Given the description of an element on the screen output the (x, y) to click on. 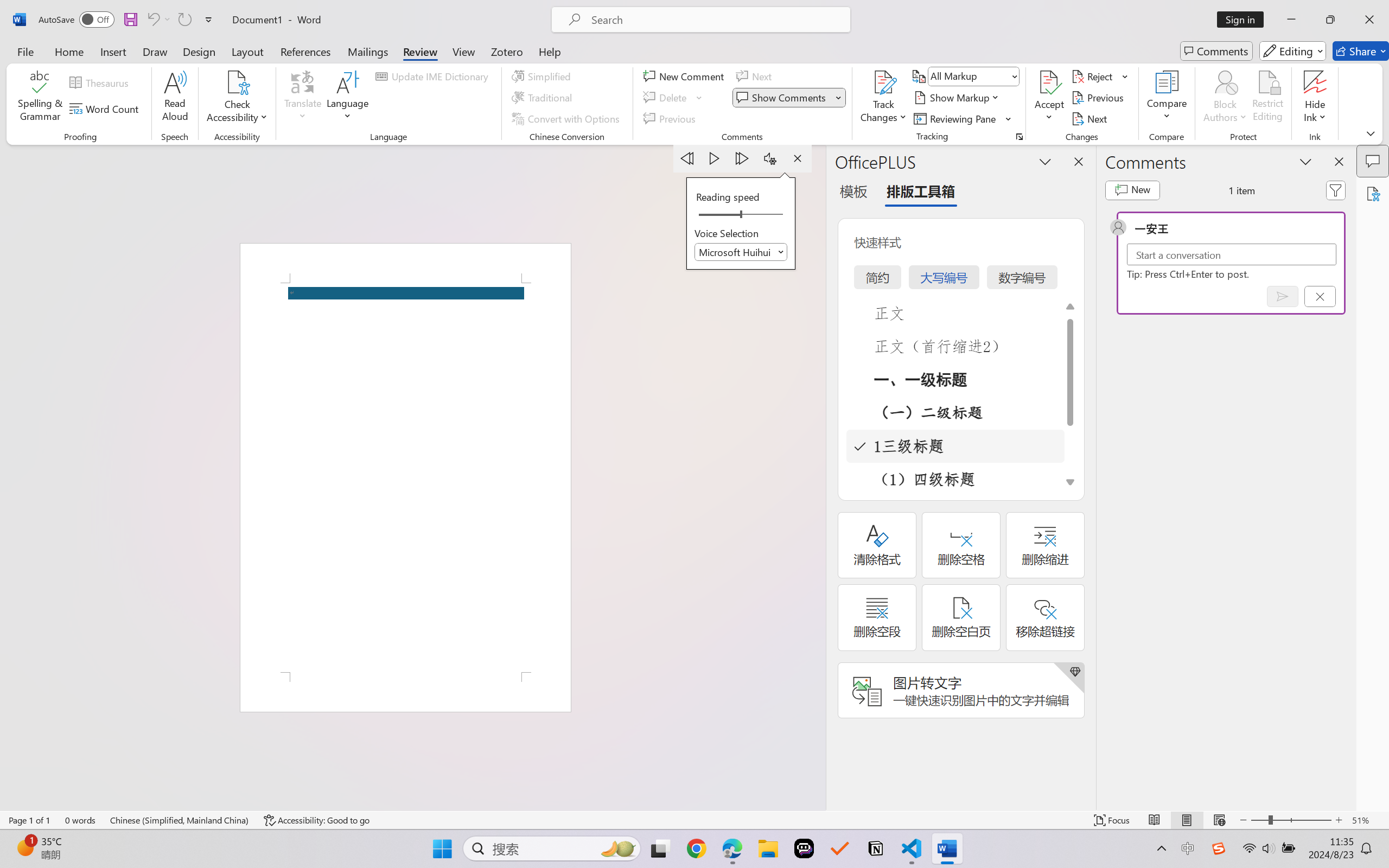
Show Comments (788, 97)
Update IME Dictionary... (433, 75)
Convert with Options... (567, 118)
Translate (303, 97)
Show Markup (957, 97)
